Given the description of an element on the screen output the (x, y) to click on. 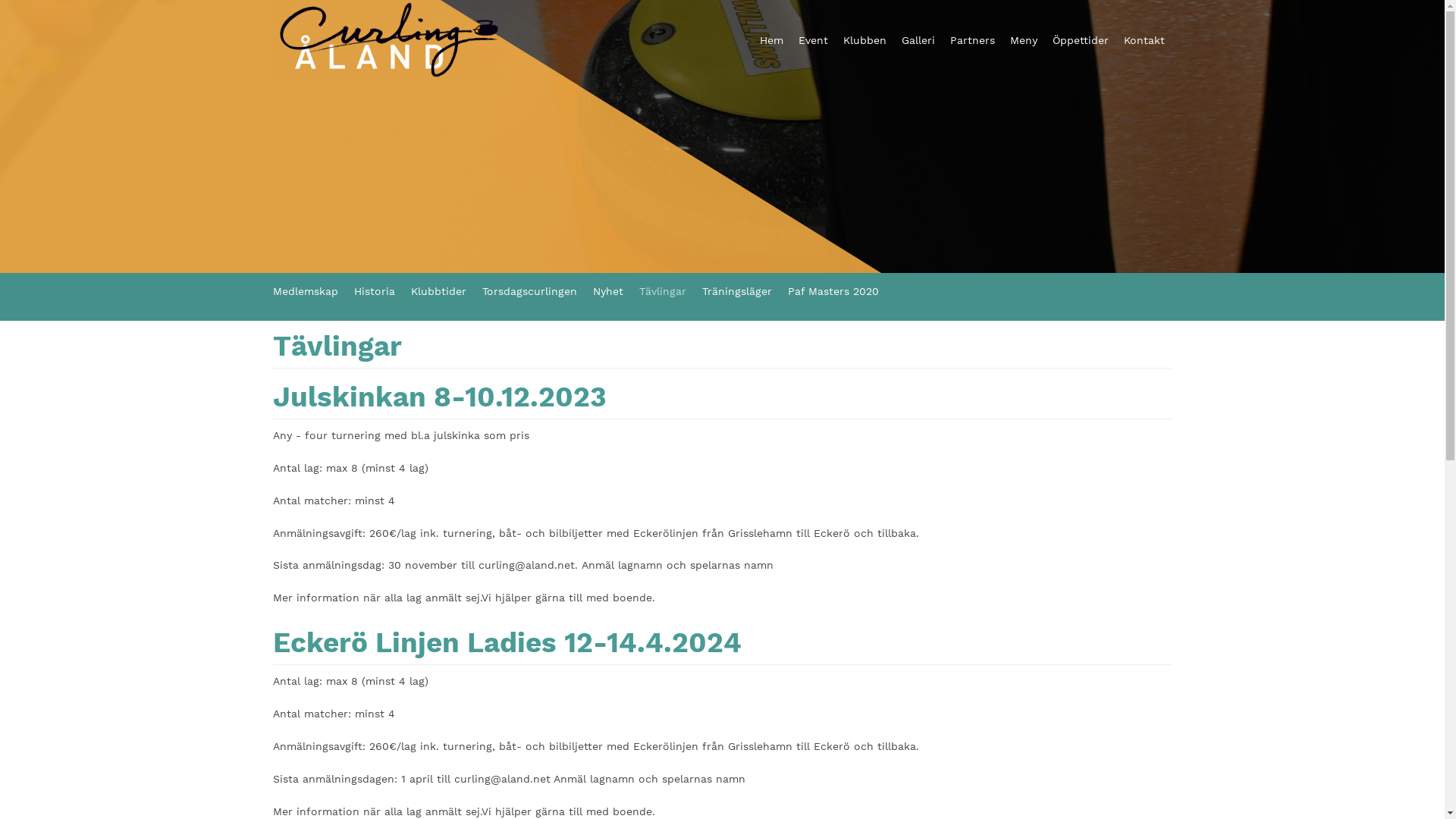
Partners Element type: text (971, 40)
Hem Element type: text (771, 40)
Klubbtider Element type: text (446, 291)
Meny Element type: text (1023, 40)
Nyhet Element type: text (616, 291)
Galleri Element type: text (917, 40)
Medlemskap Element type: text (313, 291)
Event Element type: text (812, 40)
Paf Masters 2020 Element type: text (840, 291)
Kontakt Element type: text (1144, 40)
Klubben Element type: text (864, 40)
Torsdagscurlingen Element type: text (537, 291)
Historia Element type: text (381, 291)
